Given the description of an element on the screen output the (x, y) to click on. 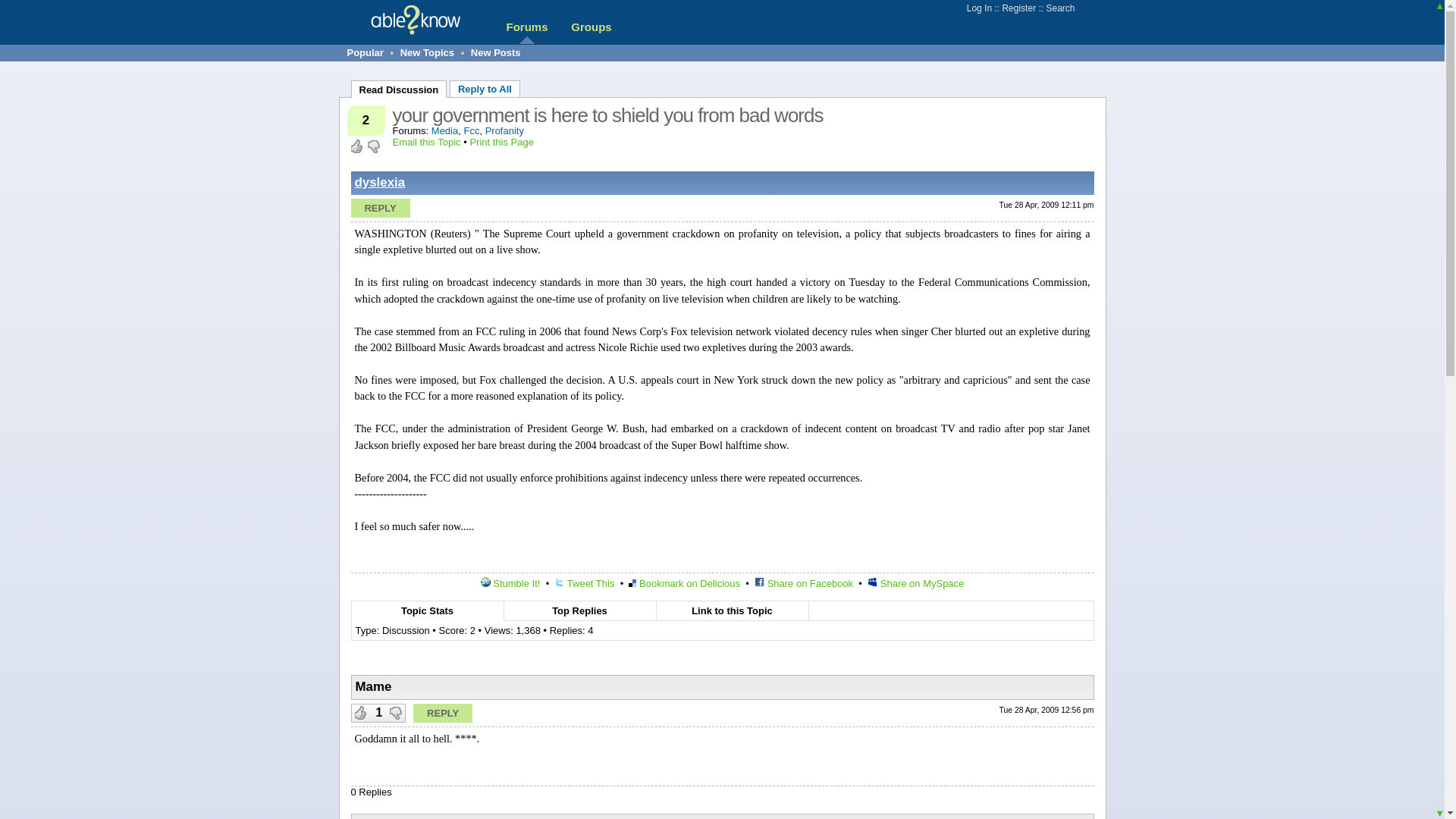
Log In (978, 8)
Fcc Forum (471, 130)
Groups (590, 26)
Media Forum (444, 130)
Popular (365, 52)
Stumble It! (510, 583)
Email this Topic (427, 142)
New Posts (495, 52)
Popular (365, 52)
Share on Facebook (803, 583)
Bookmark on Delicious (683, 583)
Reply (442, 712)
Log In (978, 8)
Forums (526, 26)
Profanity (504, 130)
